Given the description of an element on the screen output the (x, y) to click on. 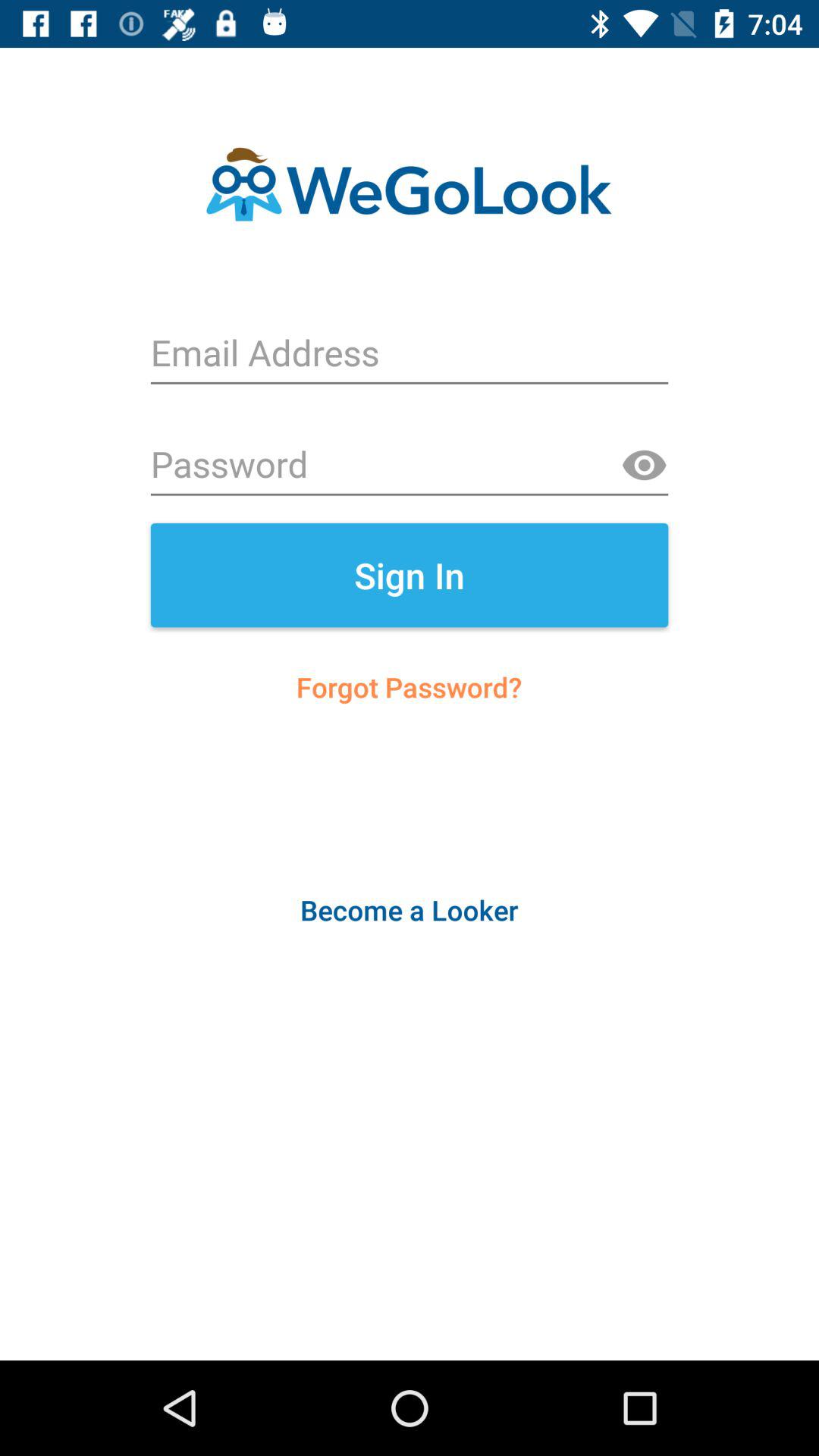
jump to become a looker (409, 909)
